Given the description of an element on the screen output the (x, y) to click on. 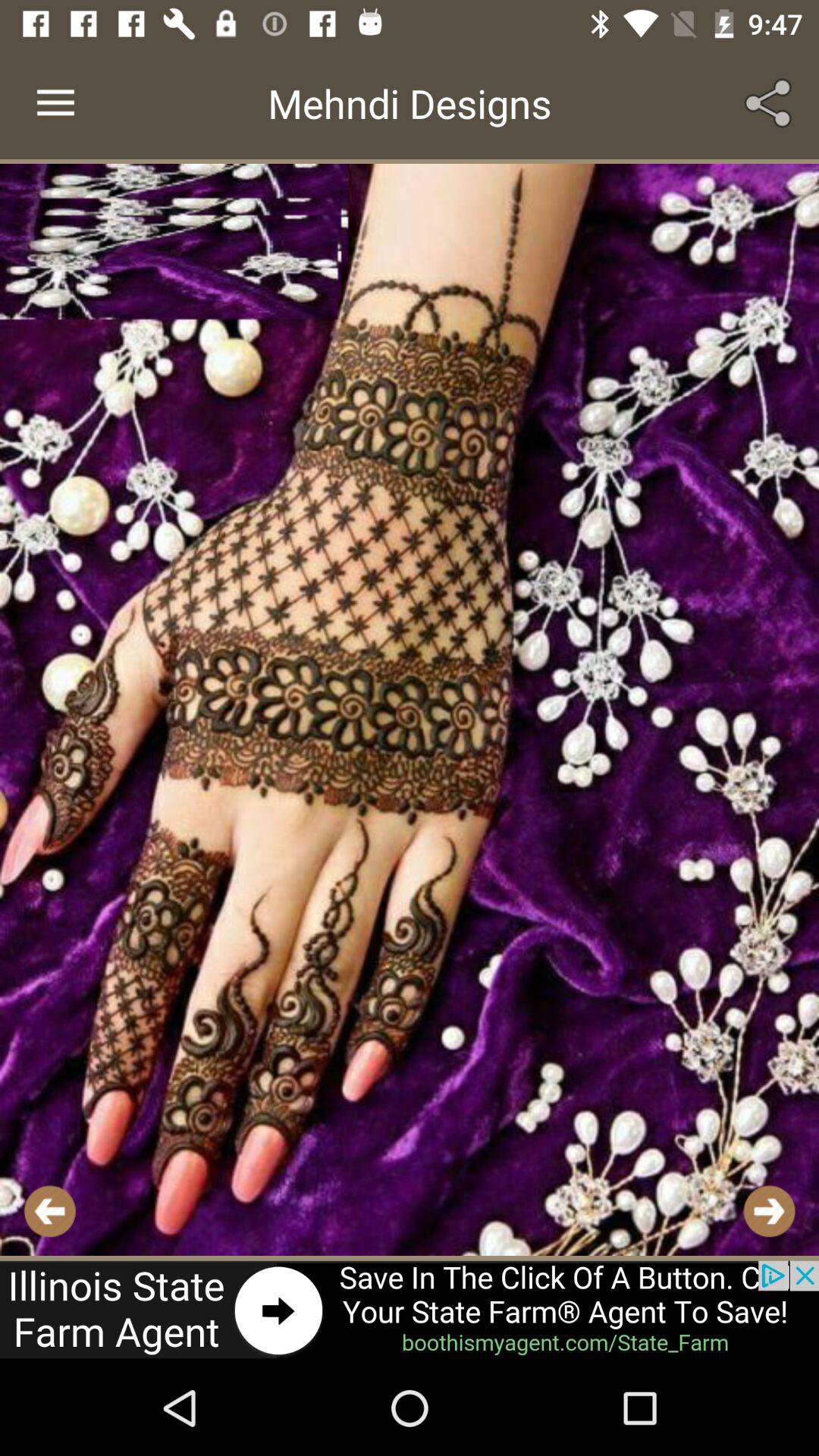
description (409, 709)
